Given the description of an element on the screen output the (x, y) to click on. 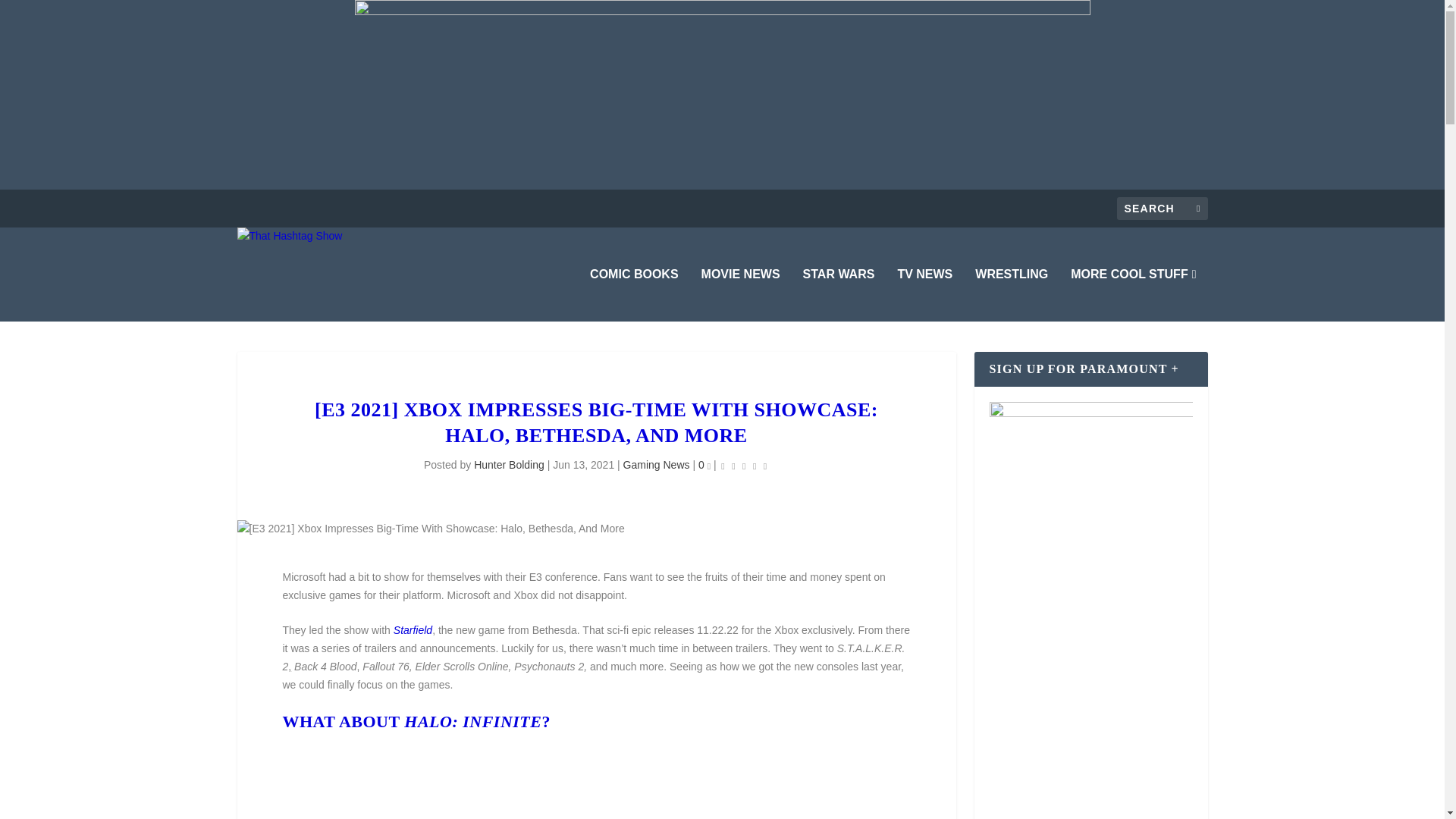
MORE COOL STUFF (1132, 294)
WRESTLING (1011, 294)
Search for: (1161, 208)
Gaming News (656, 464)
COMIC BOOKS (633, 294)
Halo Infinite Official Multiplayer Reveal (596, 779)
Starfield (412, 630)
Posts by Hunter Bolding (509, 464)
STAR WARS (839, 294)
0 (704, 464)
Hunter Bolding (509, 464)
MOVIE NEWS (740, 294)
TV NEWS (924, 294)
Rating: 0.00 (743, 465)
HALO: INFINITE (472, 721)
